Given the description of an element on the screen output the (x, y) to click on. 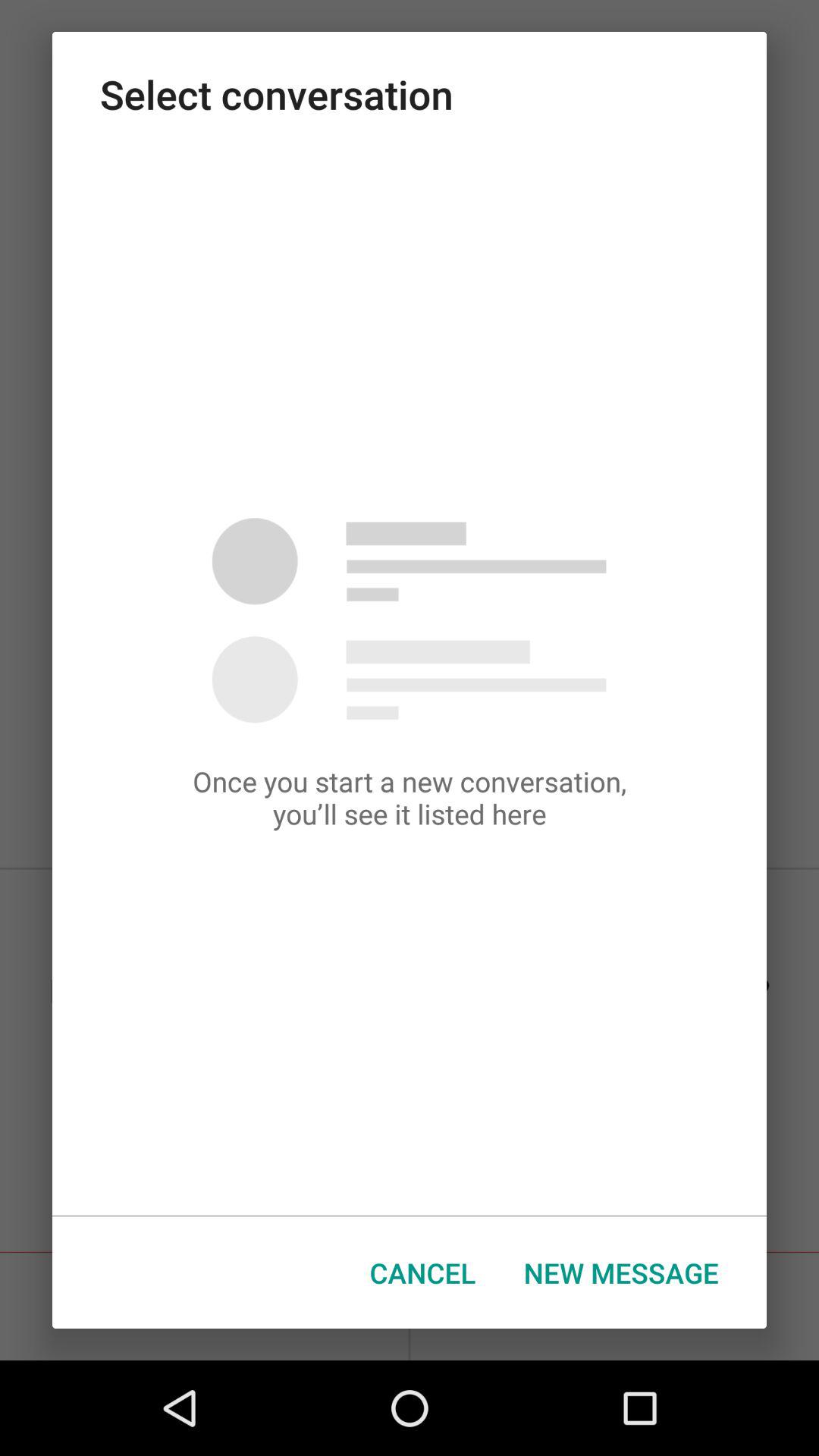
turn off the cancel (422, 1272)
